Given the description of an element on the screen output the (x, y) to click on. 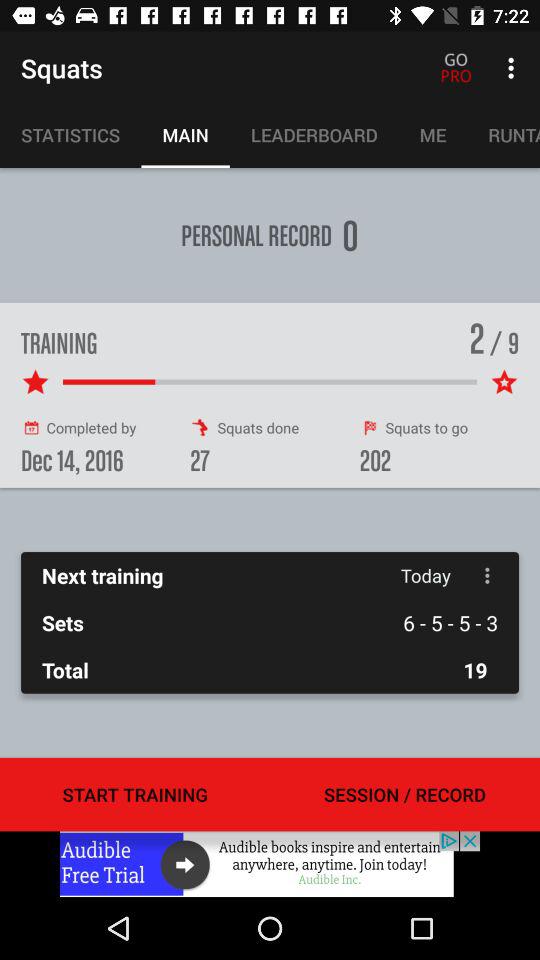
open link to advertisement (270, 864)
